Given the description of an element on the screen output the (x, y) to click on. 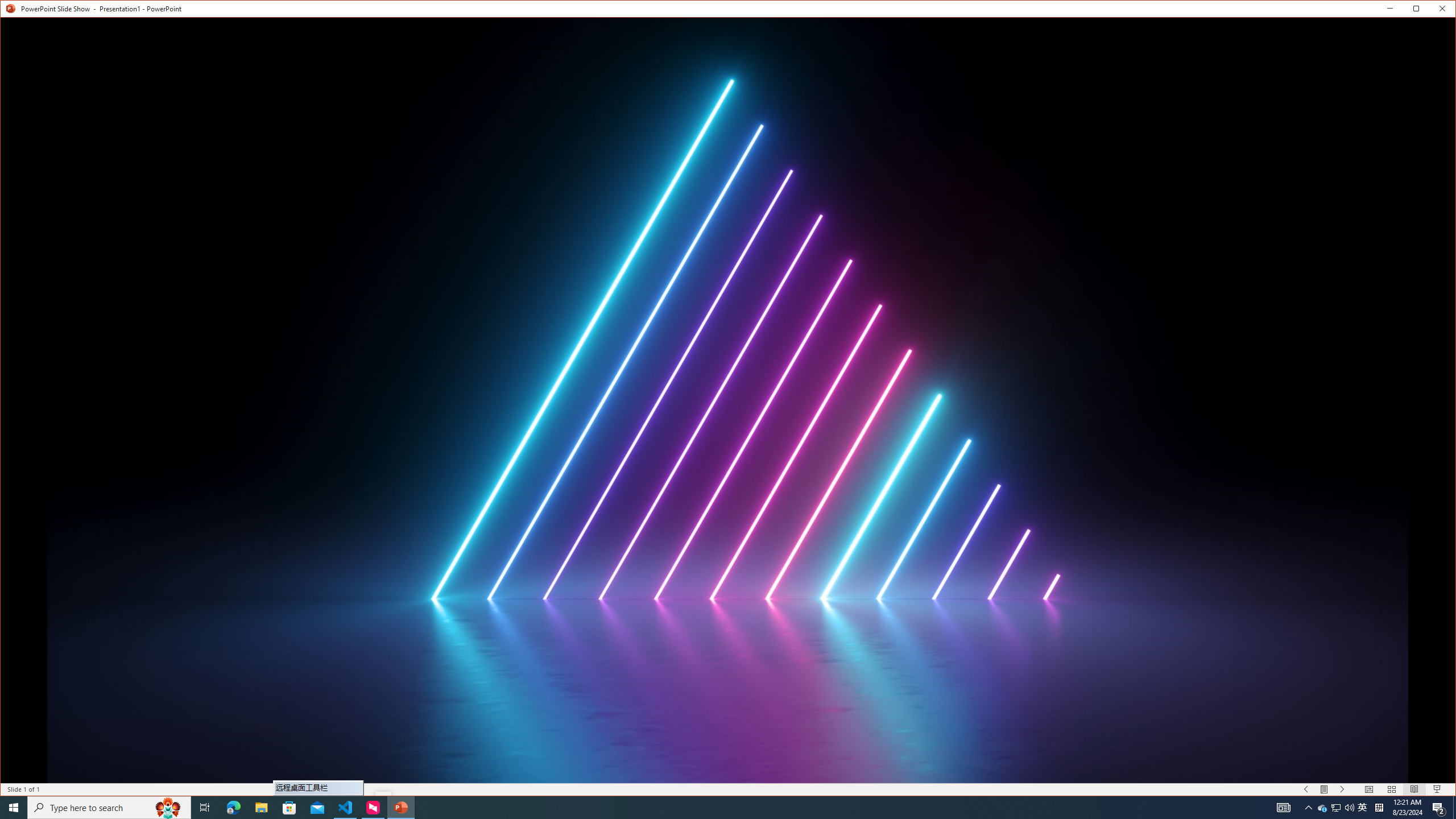
Menu On (1324, 789)
